Given the description of an element on the screen output the (x, y) to click on. 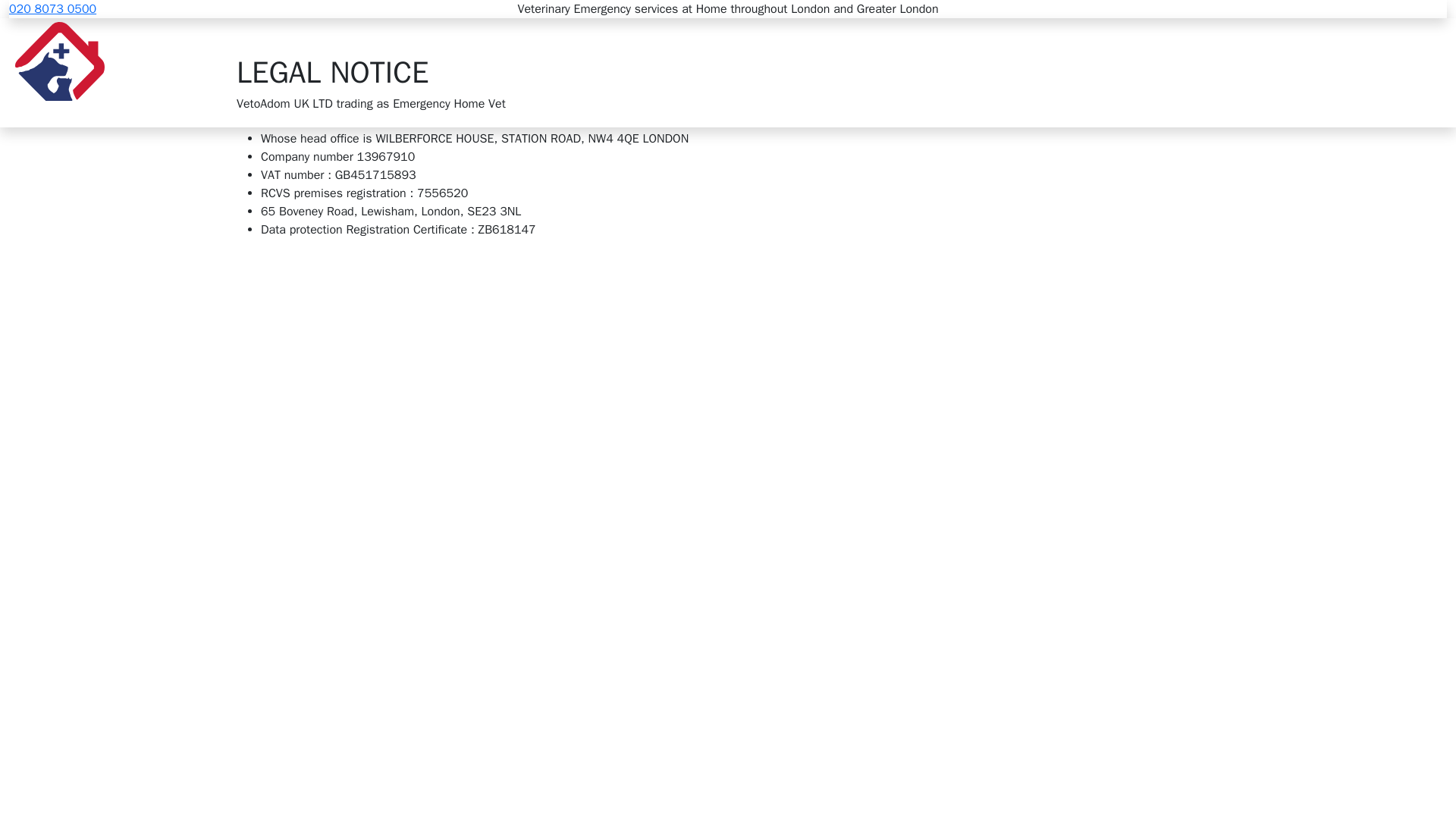
who we are (625, 72)
Contact (859, 72)
faq (900, 72)
020 8073 0500 (52, 8)
log in (953, 72)
our interventions (722, 72)
Advice (806, 72)
